Given the description of an element on the screen output the (x, y) to click on. 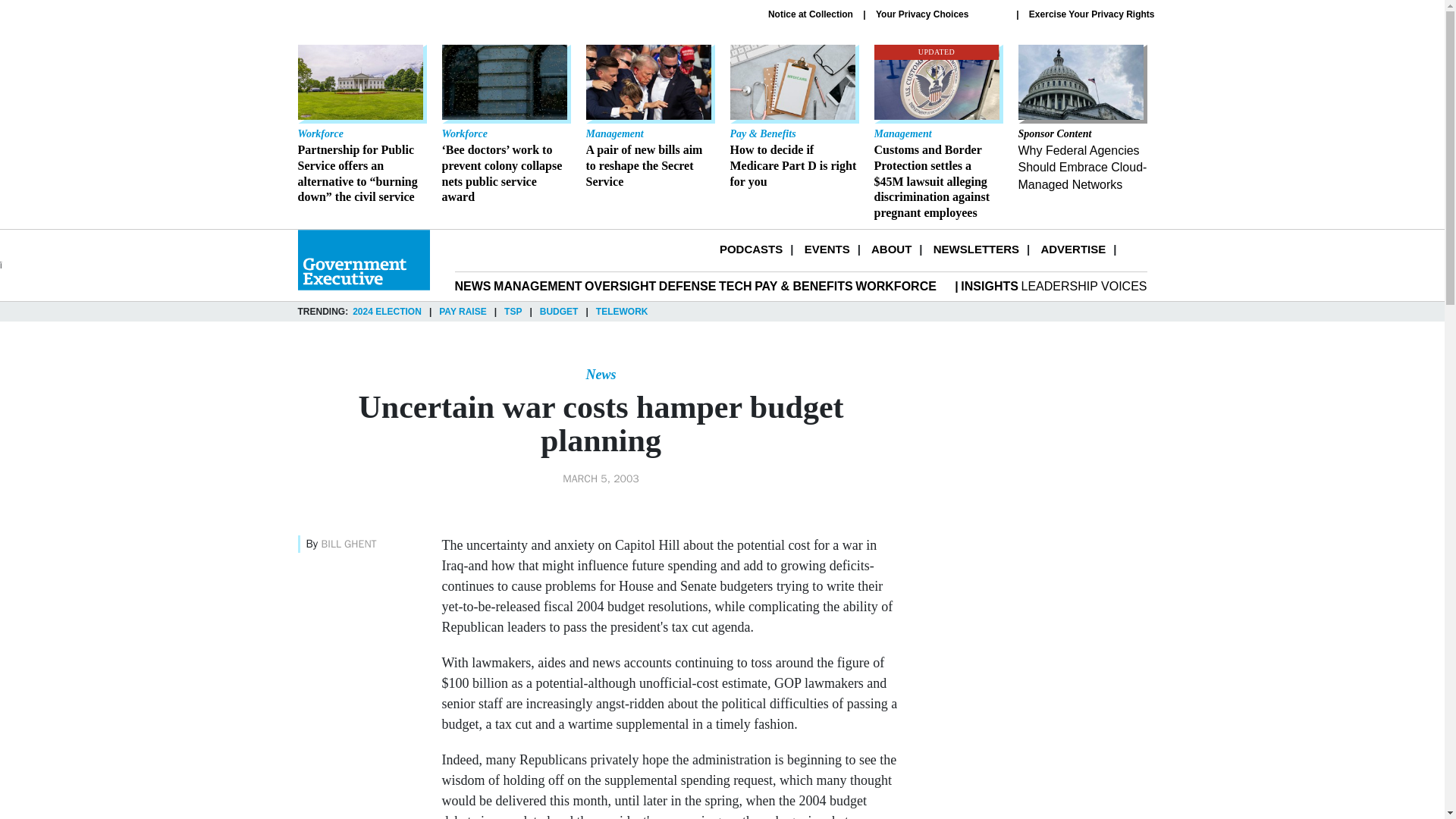
Exercise Your Privacy Rights (1091, 14)
Your Privacy Choices (941, 14)
EVENTS (827, 248)
ADVERTISE (1073, 248)
NEWSLETTERS (976, 248)
PODCASTS (751, 248)
Notice at Collection (810, 14)
ABOUT (890, 248)
